Given the description of an element on the screen output the (x, y) to click on. 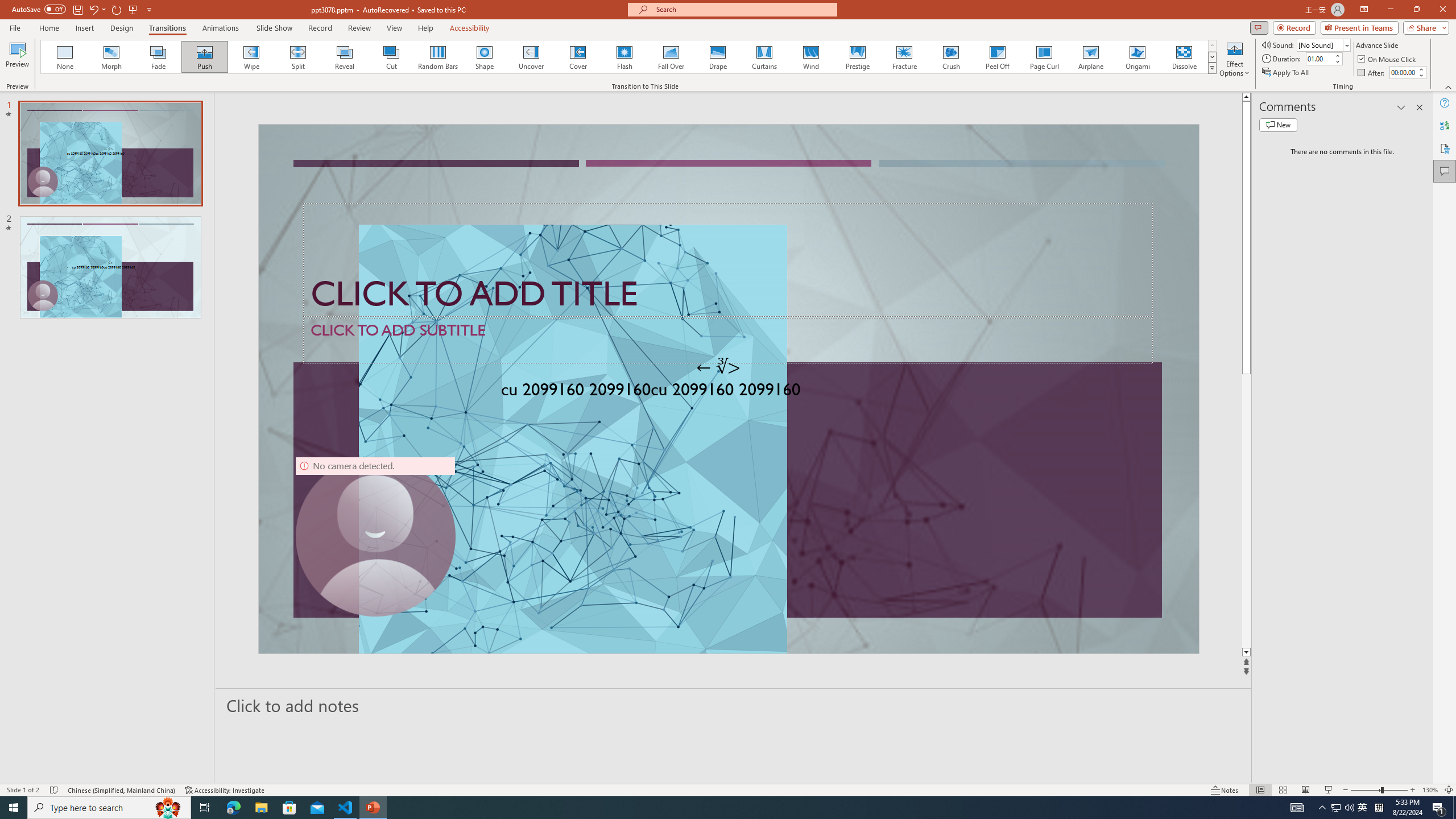
Drape (717, 56)
Push (205, 56)
Line down (1245, 652)
Class: NetUIImage (1211, 68)
Insert (83, 28)
Reveal (344, 56)
Spell Check No Errors (54, 790)
Present in Teams (1359, 27)
Sound (1324, 44)
Accessibility Checker Accessibility: Investigate (224, 790)
Line up (1245, 96)
Redo (117, 9)
AutoSave (38, 9)
